Given the description of an element on the screen output the (x, y) to click on. 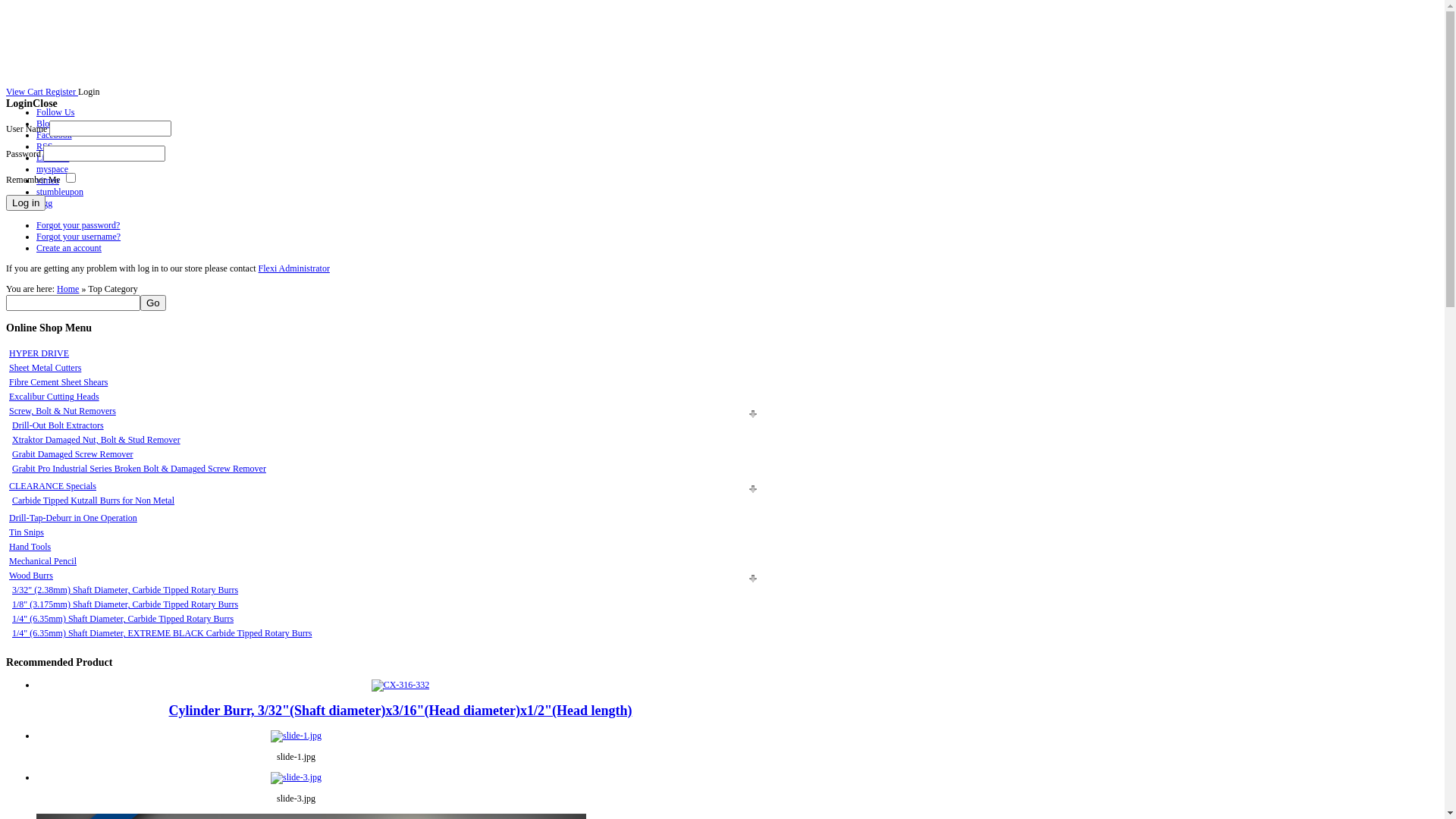
Go Element type: text (153, 302)
myspace Element type: text (52, 168)
Cylinder Burr, 3/32 Element type: hover (400, 684)
1/4" (6.35mm) Shaft Diameter, Carbide Tipped Rotary Burrs Element type: text (122, 618)
Home Element type: text (67, 288)
Excalibur Cutting Heads Element type: text (54, 396)
Tin Snips Element type: text (26, 532)
Forgot your password? Element type: text (77, 224)
3/32" (2.38mm) Shaft Diameter, Carbide Tipped Rotary Burrs Element type: text (125, 589)
RSS Element type: text (44, 146)
Drill-Out Bolt Extractors Element type: text (57, 425)
Drill-Tap-Deburr in One Operation Element type: text (73, 517)
Login Element type: text (89, 91)
Mechanical Pencil Element type: text (42, 560)
digg Element type: text (44, 202)
Forgot your username? Element type: text (78, 236)
Fibre Cement Sheet Shears Element type: text (58, 381)
Blogger Element type: text (50, 123)
Register Element type: text (60, 91)
Flexi Administrator Element type: text (293, 268)
View Cart Element type: text (24, 91)
Facebook Element type: text (54, 134)
Xtraktor Damaged Nut, Bolt & Stud Remover Element type: text (96, 439)
vimeo Element type: text (47, 180)
stumbleupon Element type: text (59, 191)
Linkedin Element type: text (52, 157)
Carbide Tipped Kutzall Burrs for Non Metal Element type: text (93, 500)
Log in Element type: text (25, 202)
Screw, Bolt & Nut Removers Element type: text (62, 410)
Create an account Element type: text (68, 247)
HYPER DRIVE Element type: text (39, 353)
Close Element type: text (44, 103)
Sheet Metal Cutters Element type: text (45, 367)
CLEARANCE Specials Element type: text (52, 485)
1/8" (3.175mm) Shaft Diameter, Carbide Tipped Rotary Burrs Element type: text (125, 604)
Wood Burrs Element type: text (31, 575)
Follow Us Element type: text (55, 111)
Grabit Damaged Screw Remover Element type: text (72, 453)
Hand Tools Element type: text (29, 546)
